Given the description of an element on the screen output the (x, y) to click on. 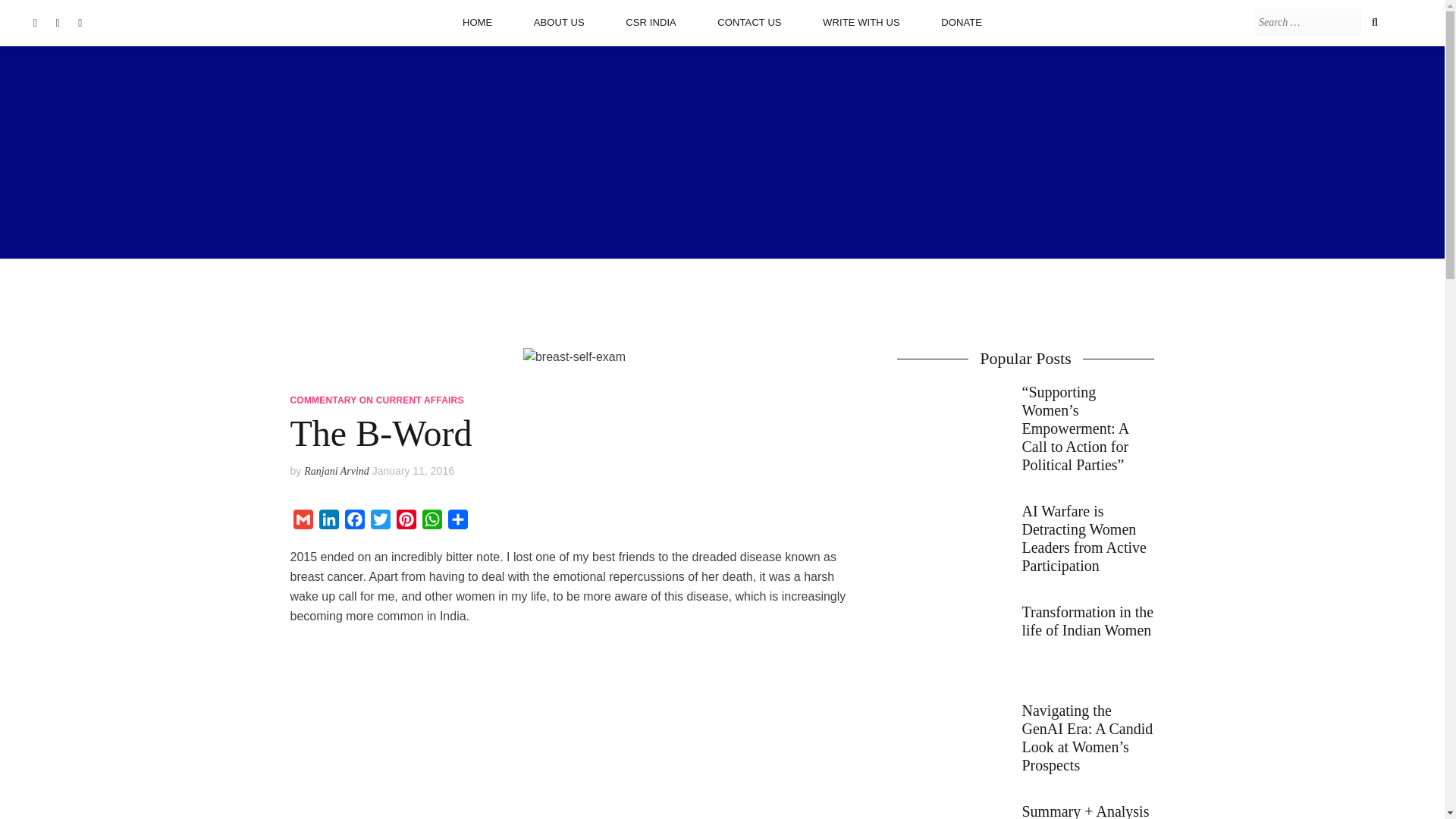
LinkedIn (327, 522)
HOME (477, 22)
Gmail (302, 522)
Facebook (353, 522)
Facebook (353, 522)
Pinterest (406, 522)
Gmail (302, 522)
ABOUT US (559, 22)
DONATE (961, 22)
Pinterest (406, 522)
Twitter (379, 522)
Transformation in the life of Indian Women (1025, 642)
Ranjani Arvind (336, 471)
Contact Us (748, 22)
